Given the description of an element on the screen output the (x, y) to click on. 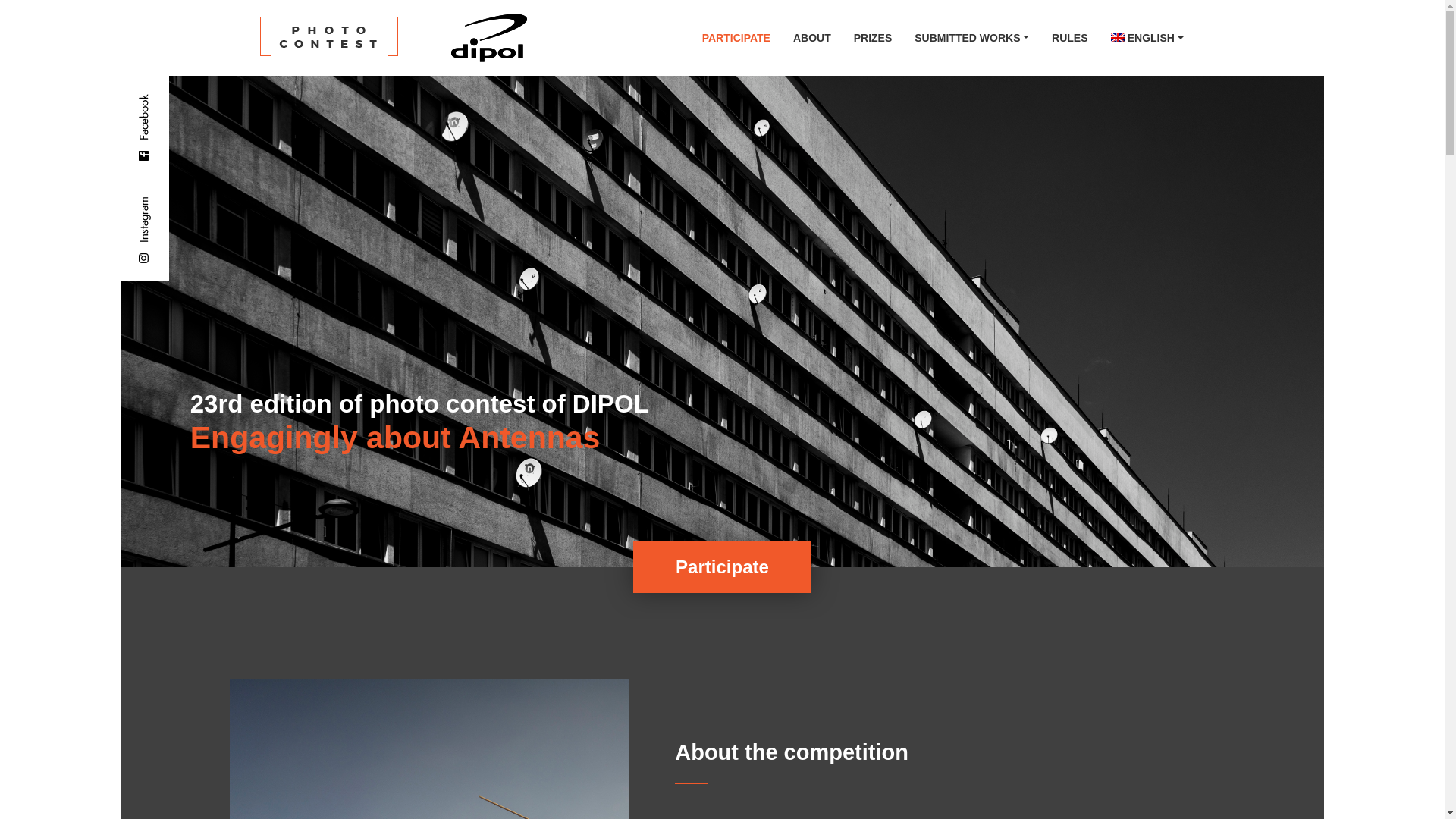
SUBMITTED WORKS (971, 37)
Participate (721, 566)
PARTICIPATE (735, 37)
ABOUT (812, 37)
RULES (1070, 37)
English (1147, 37)
PRIZES (873, 37)
ENGLISH (1147, 37)
